Given the description of an element on the screen output the (x, y) to click on. 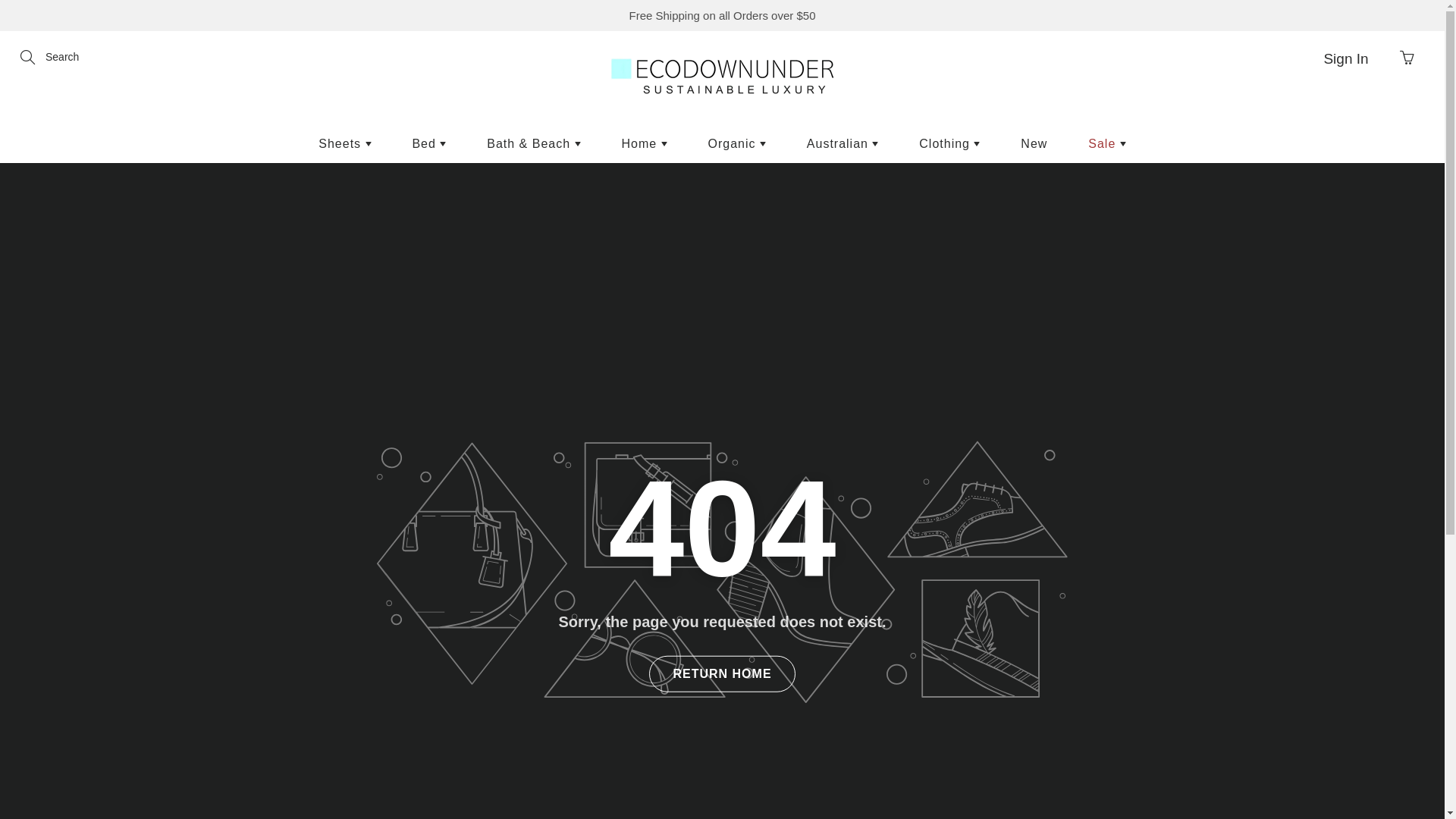
RETURN HOME Element type: text (721, 673)
Home Element type: text (643, 144)
Sign In Element type: text (1345, 57)
Australian Element type: text (842, 144)
Search Element type: text (28, 57)
Bath & Beach Element type: text (533, 144)
Sale Element type: text (1106, 144)
Organic Element type: text (736, 144)
New Element type: text (1033, 144)
You have 0 items in your cart Element type: text (1406, 57)
Bed Element type: text (428, 144)
Sheets Element type: text (344, 144)
Clothing Element type: text (949, 144)
